Given the description of an element on the screen output the (x, y) to click on. 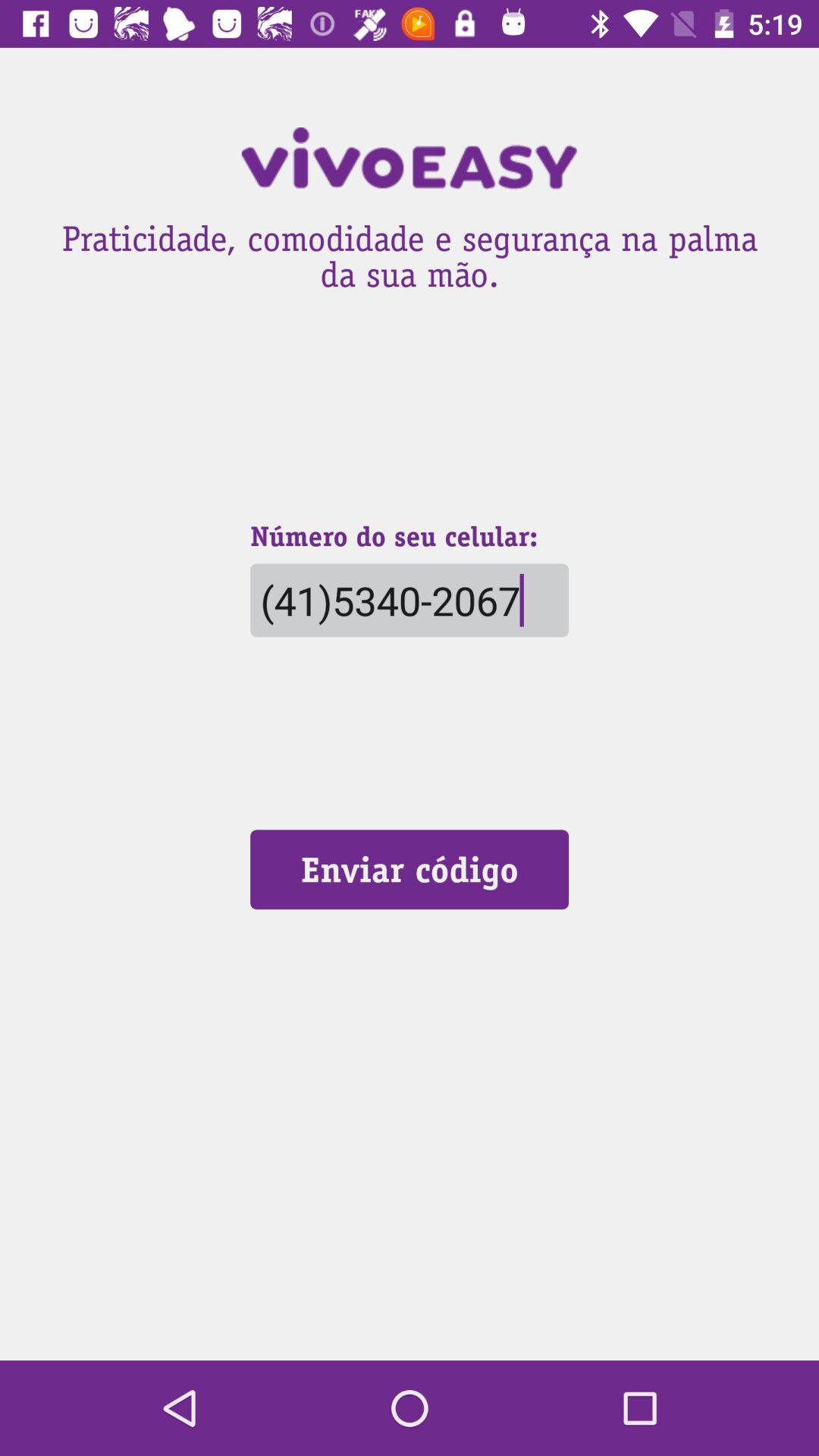
turn on the (41)5340-2067 icon (409, 600)
